Given the description of an element on the screen output the (x, y) to click on. 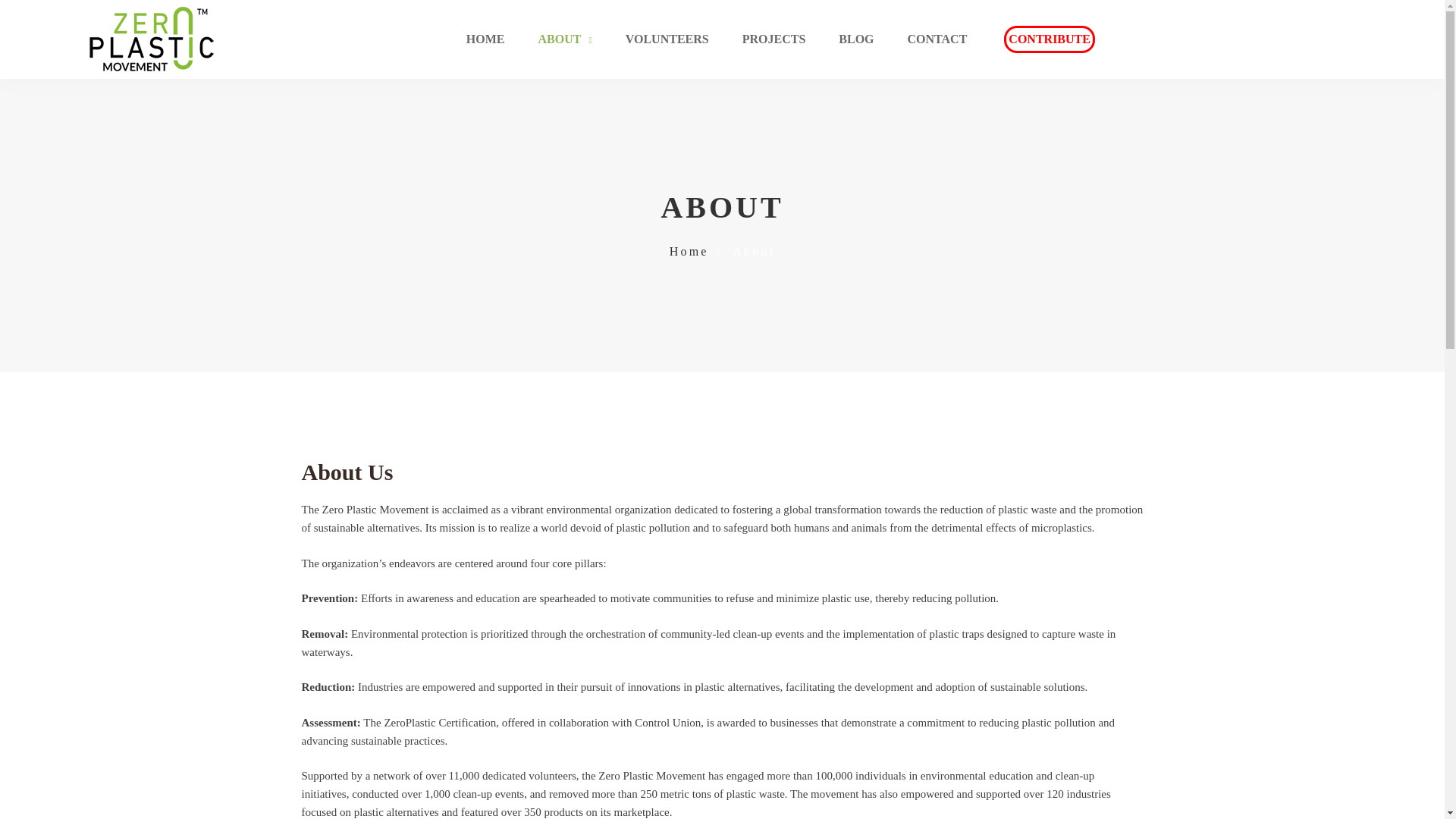
CONTACT (937, 39)
PROJECTS (773, 39)
VOLUNTEERS (666, 39)
ABOUT (564, 39)
Home (689, 250)
ZeroPlastic Movement (151, 38)
CONTRIBUTE (1049, 39)
